Given the description of an element on the screen output the (x, y) to click on. 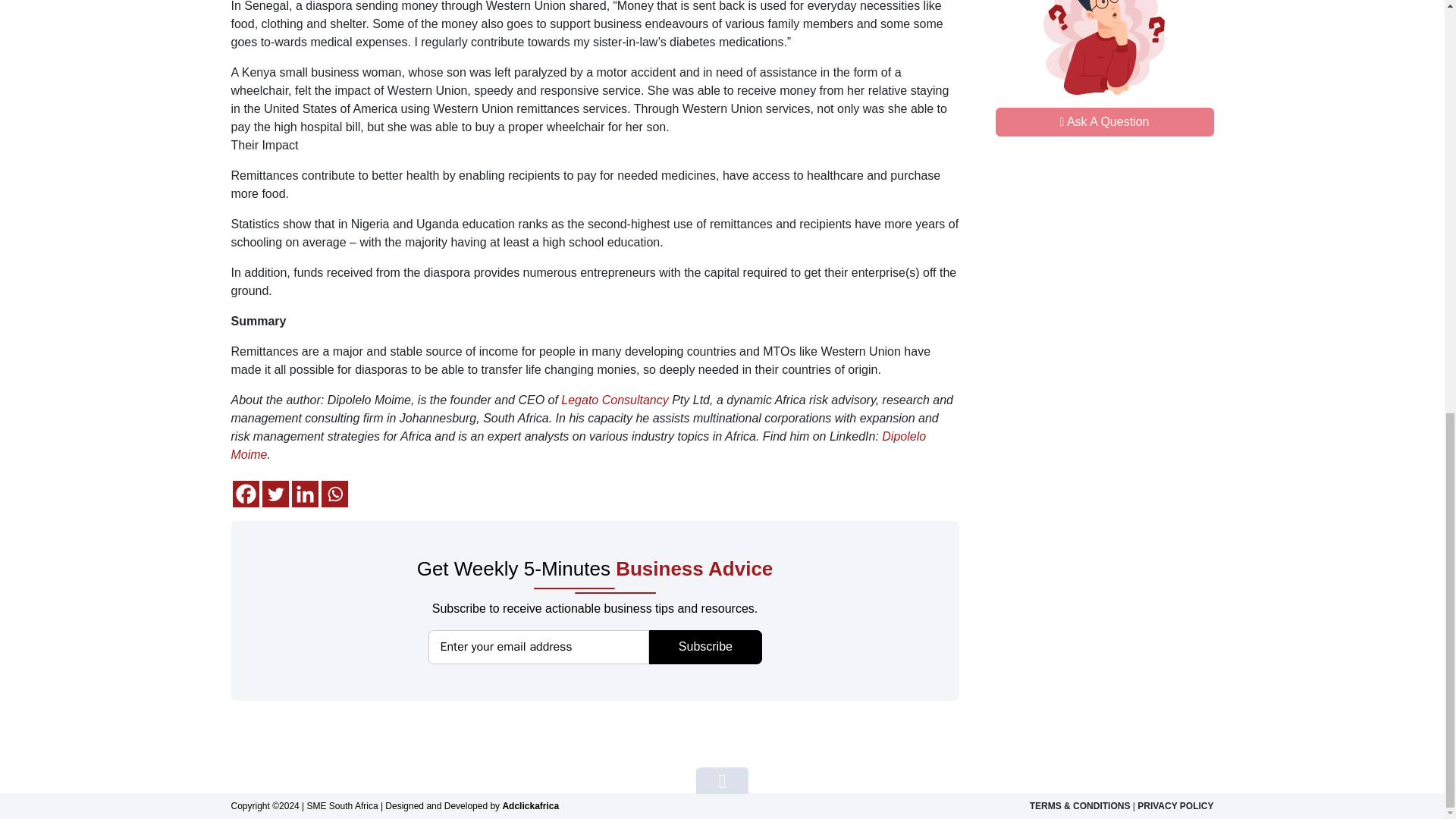
Dipolelo Moime (1103, 77)
Linkedin (578, 445)
Twitter (304, 493)
Subscribe (275, 493)
Ask A Question (705, 646)
Facebook (1103, 121)
Whatsapp (245, 493)
Legato Consultancy (334, 493)
